Given the description of an element on the screen output the (x, y) to click on. 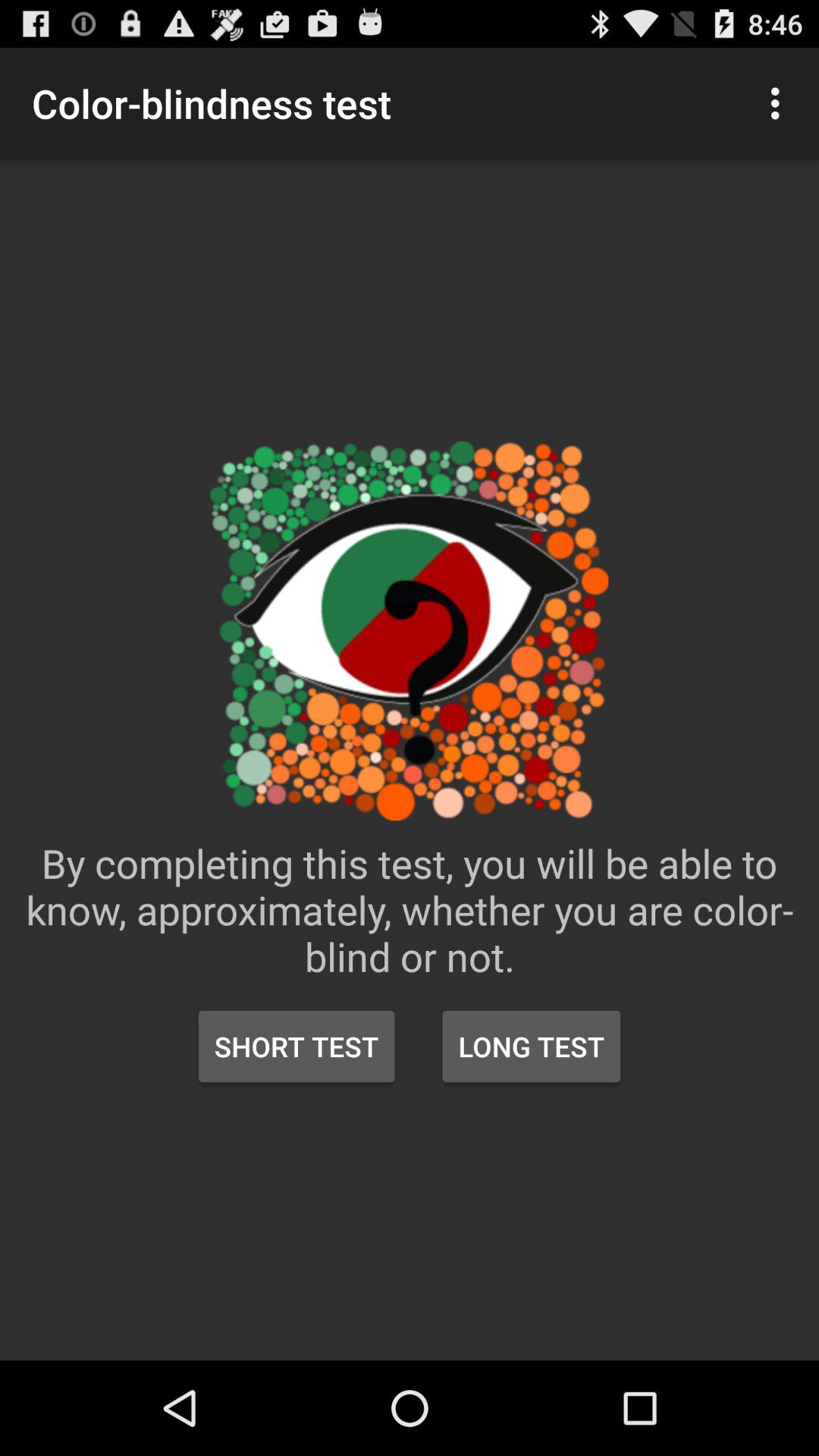
swipe to the short test button (296, 1046)
